Given the description of an element on the screen output the (x, y) to click on. 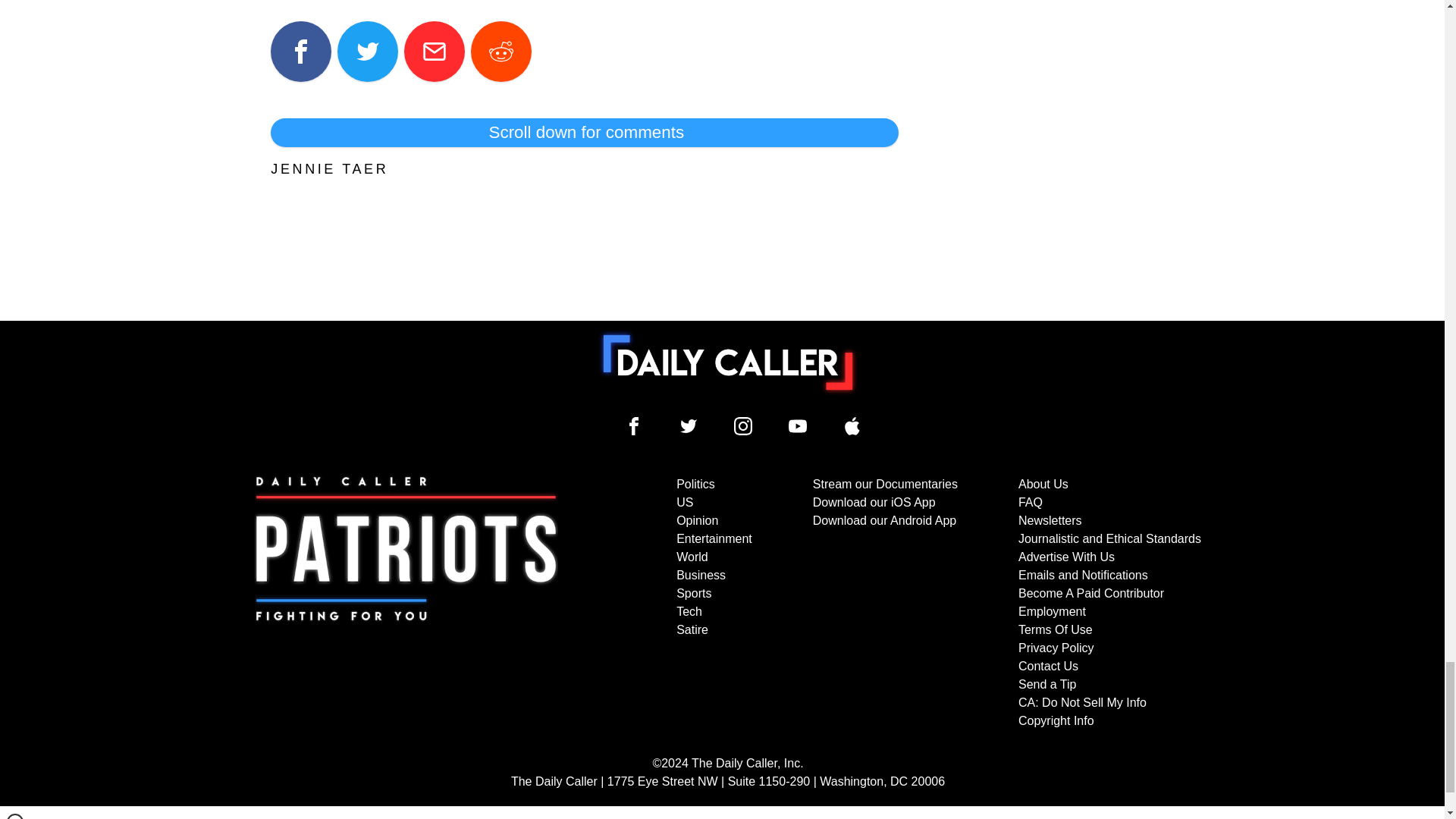
Subscribe to The Daily Caller (405, 602)
Daily Caller Instagram (742, 425)
Daily Caller Facebook (633, 425)
To home page (727, 362)
Daily Caller Twitter (688, 425)
Daily Caller YouTube (797, 425)
Scroll down for comments (584, 132)
Daily Caller YouTube (852, 425)
